Given the description of an element on the screen output the (x, y) to click on. 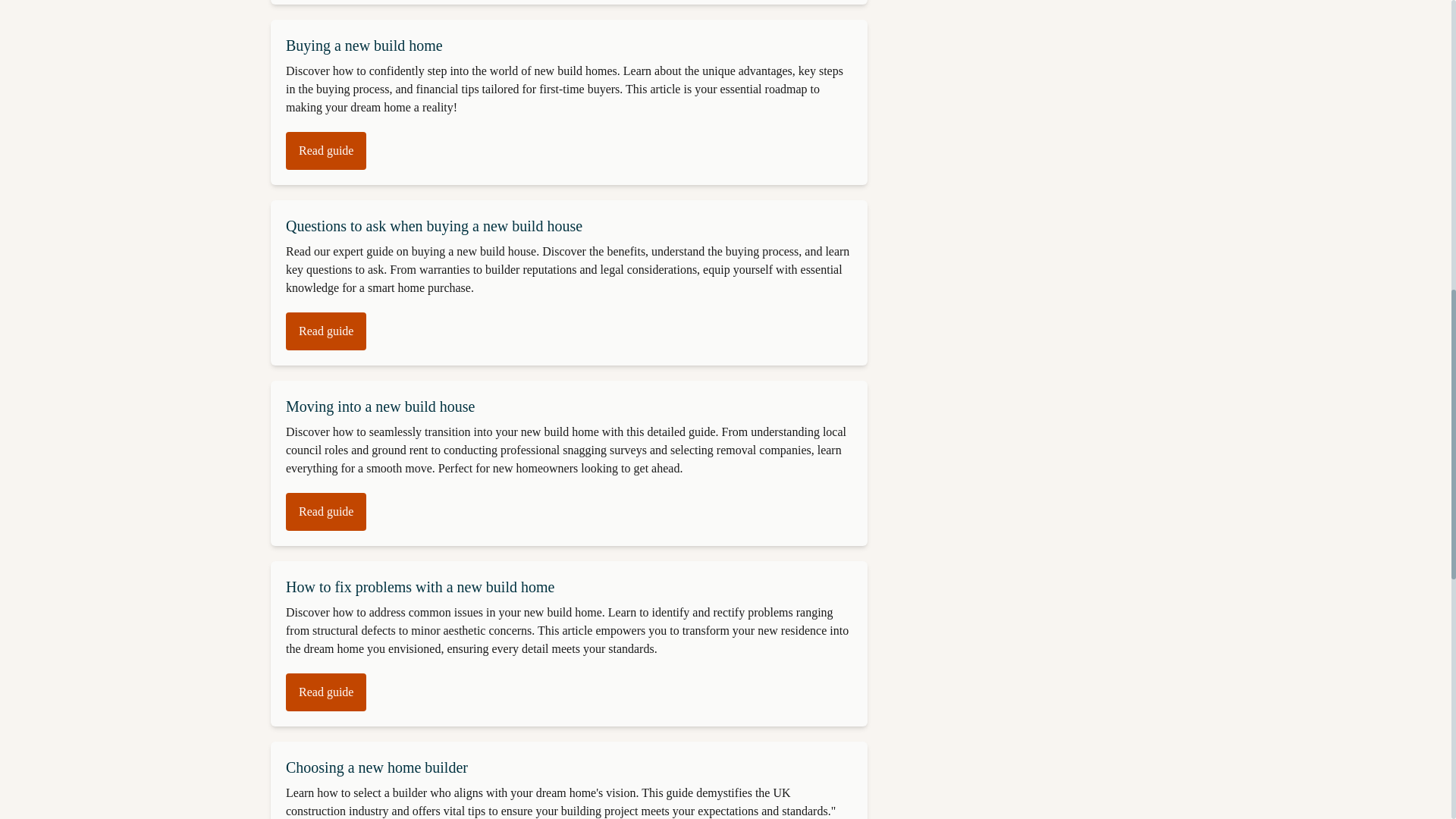
Read guide (325, 331)
Read guide (325, 511)
Buying a new build home (363, 45)
Read guide (325, 150)
Moving into a new build house (379, 406)
Read guide (325, 692)
Questions to ask when buying a new build house (433, 225)
How to fix problems with a new build home (419, 586)
